Given the description of an element on the screen output the (x, y) to click on. 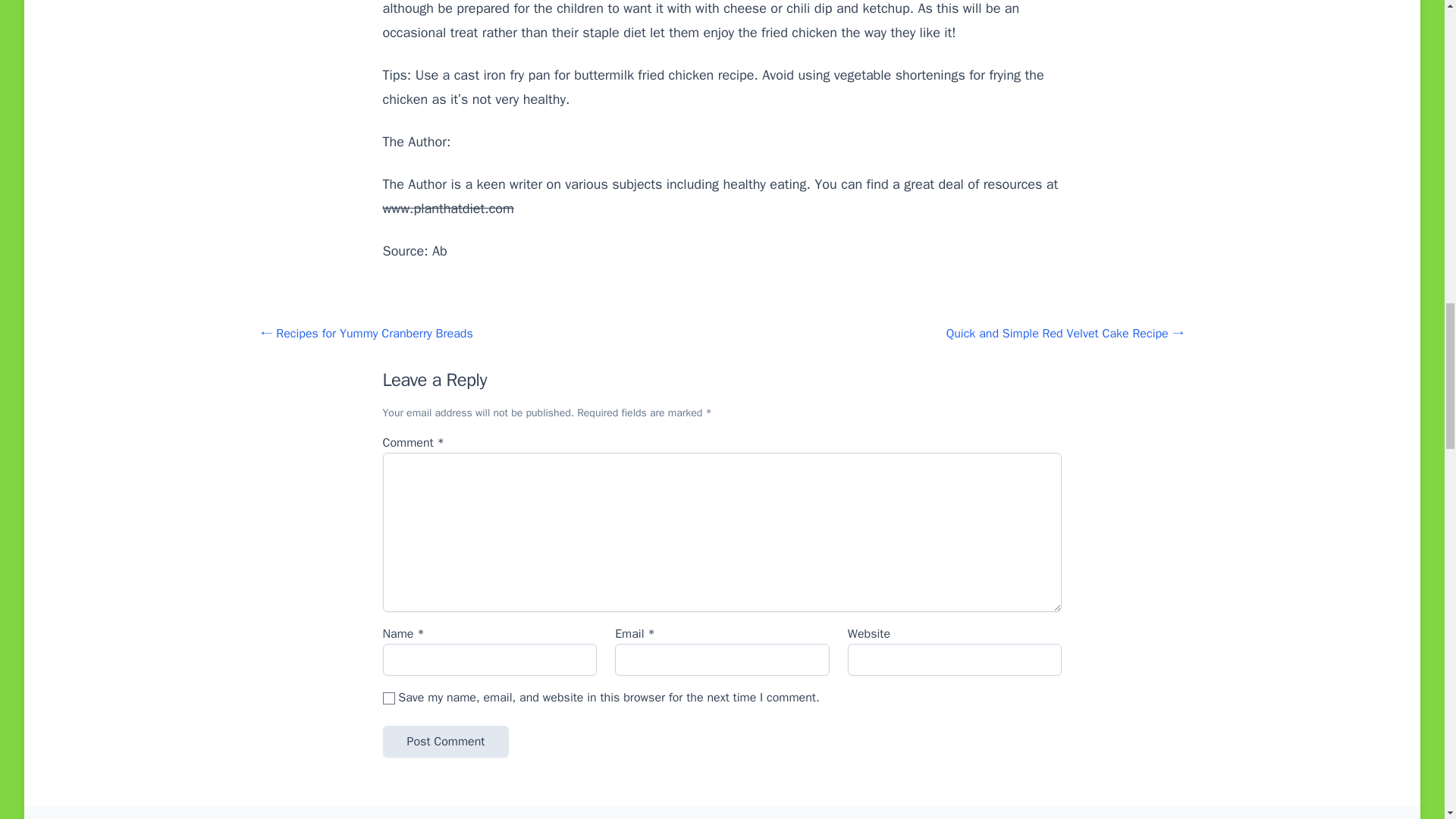
yes (387, 698)
Post Comment (444, 741)
